Given the description of an element on the screen output the (x, y) to click on. 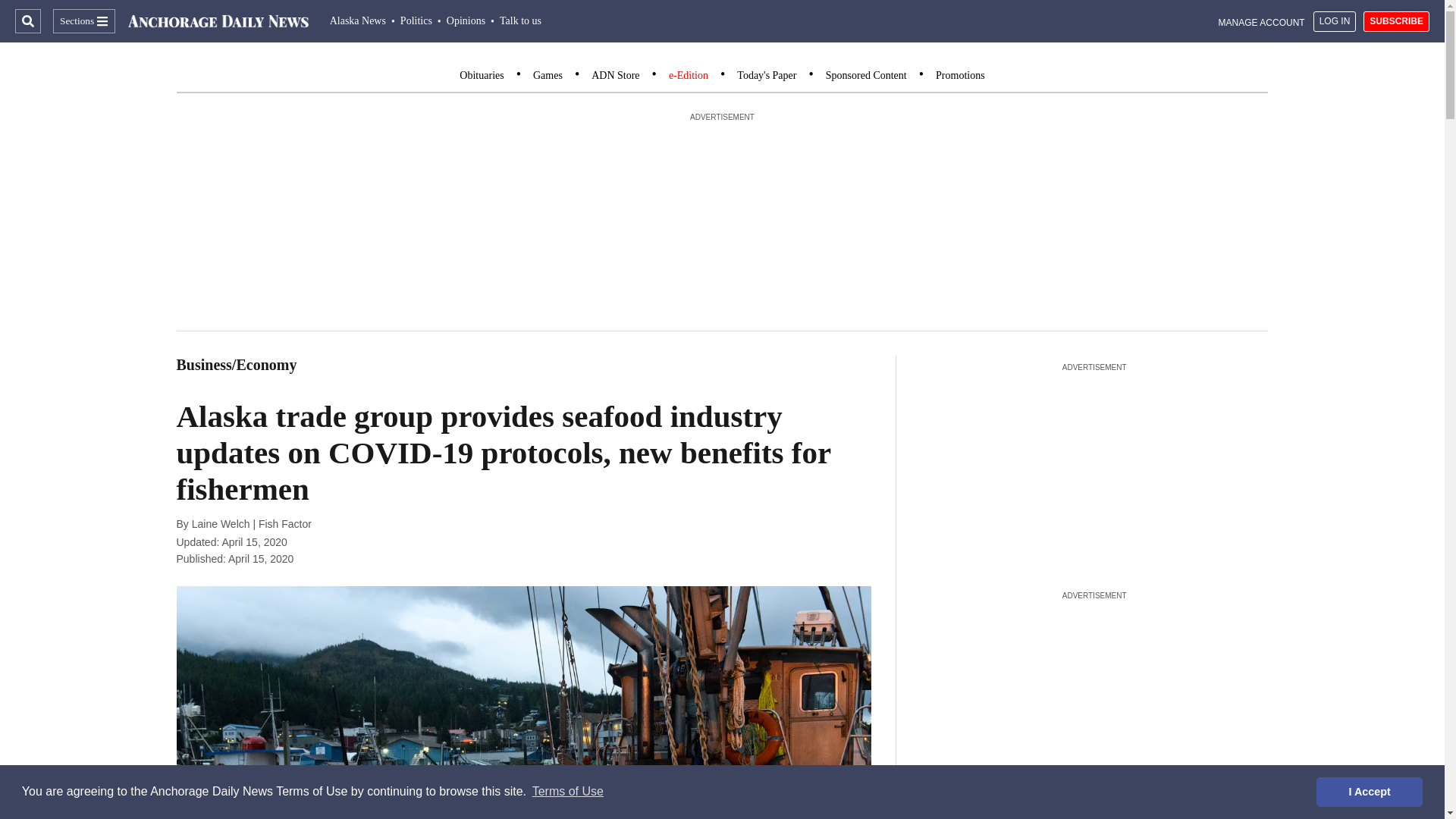
Alaska News (357, 20)
Terms of Use (567, 791)
3rd party ad content (1093, 470)
LOG IN (1334, 20)
I Accept (1369, 791)
Politics (416, 20)
3rd party ad content (1093, 698)
ADN Logo (218, 20)
Sections (83, 21)
SUBSCRIBE (1395, 20)
Opinions (465, 20)
MANAGE ACCOUNT (1261, 21)
